Given the description of an element on the screen output the (x, y) to click on. 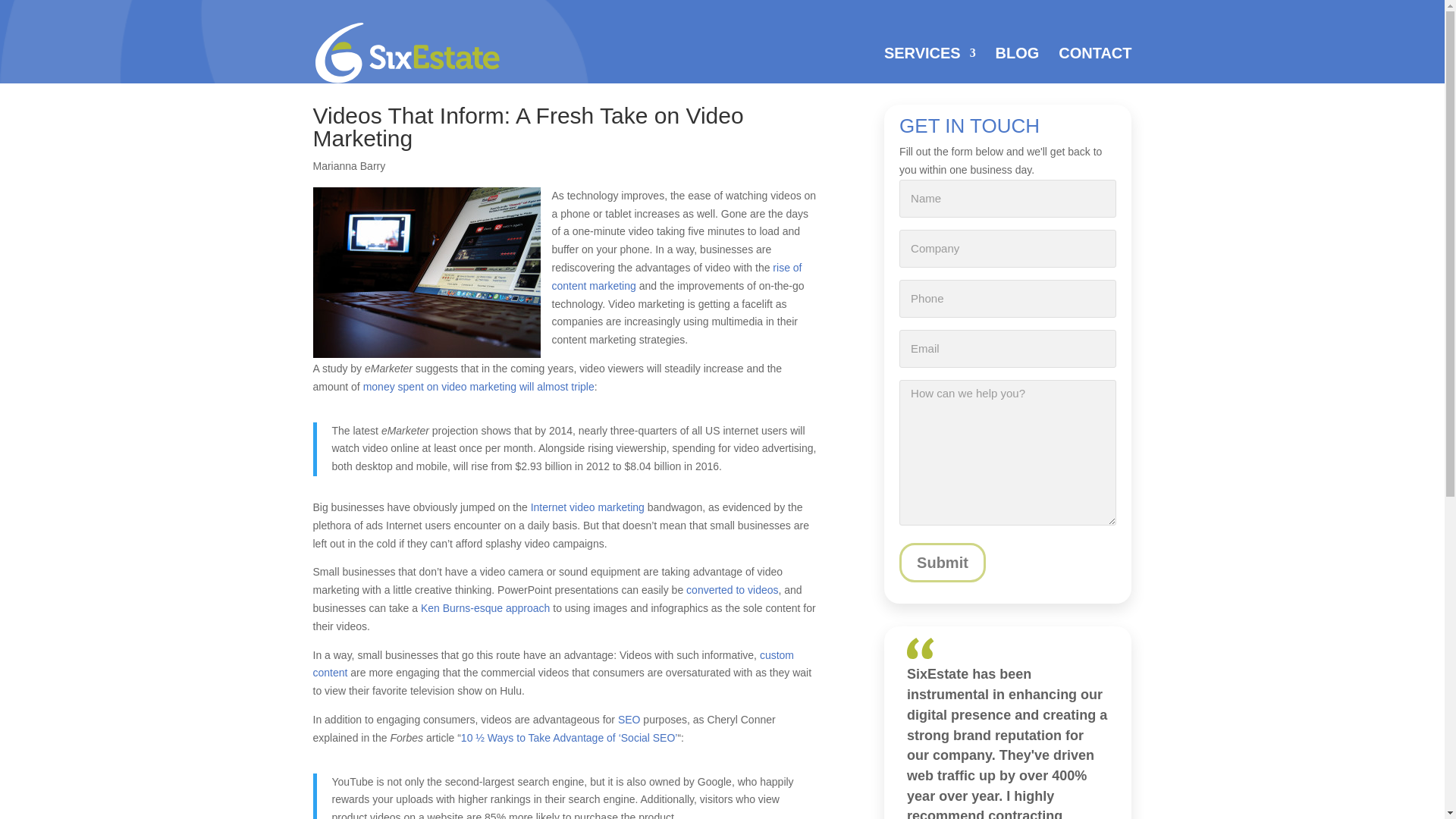
converted to videos (731, 589)
Content Marketing: The New SEO? (628, 719)
Will Video Kill the Blogging Stars? (588, 507)
Ken Burns-esque approach (485, 607)
custom content (553, 664)
money spent on video marketing will almost triple (478, 386)
rise of content marketing (676, 276)
YouTube and Joost (426, 272)
Is Anyone Out There Not a Content Marketer? (676, 276)
SERVICES (929, 65)
Submit (942, 562)
Internet video marketing (588, 507)
SEO (628, 719)
CONTACT (1094, 65)
BLOG (1017, 65)
